Given the description of an element on the screen output the (x, y) to click on. 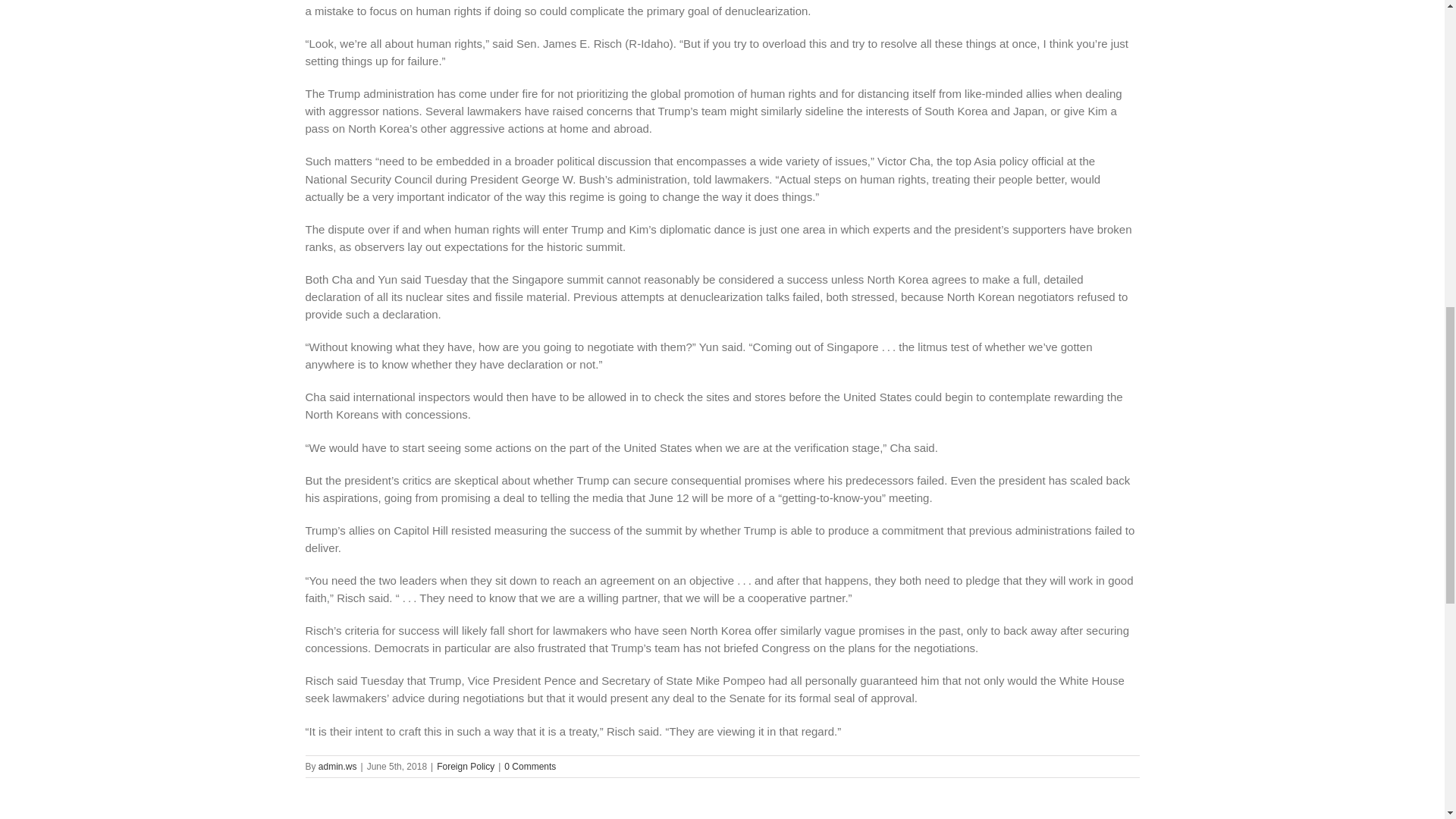
admin.ws (337, 766)
0 Comments (529, 766)
Foreign Policy (465, 766)
Posts by admin.ws (337, 766)
